Given the description of an element on the screen output the (x, y) to click on. 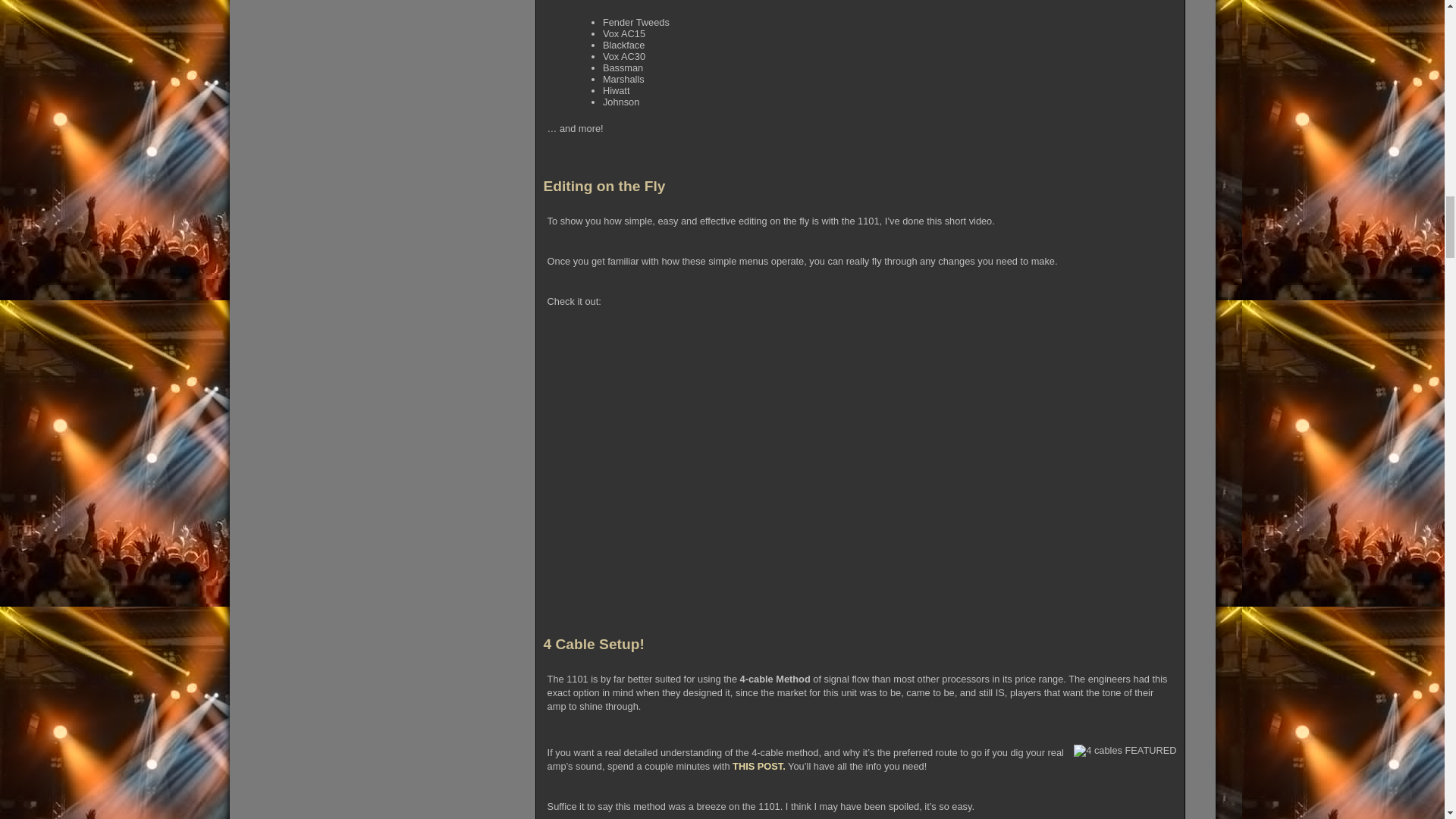
THIS POST. (759, 766)
